Given the description of an element on the screen output the (x, y) to click on. 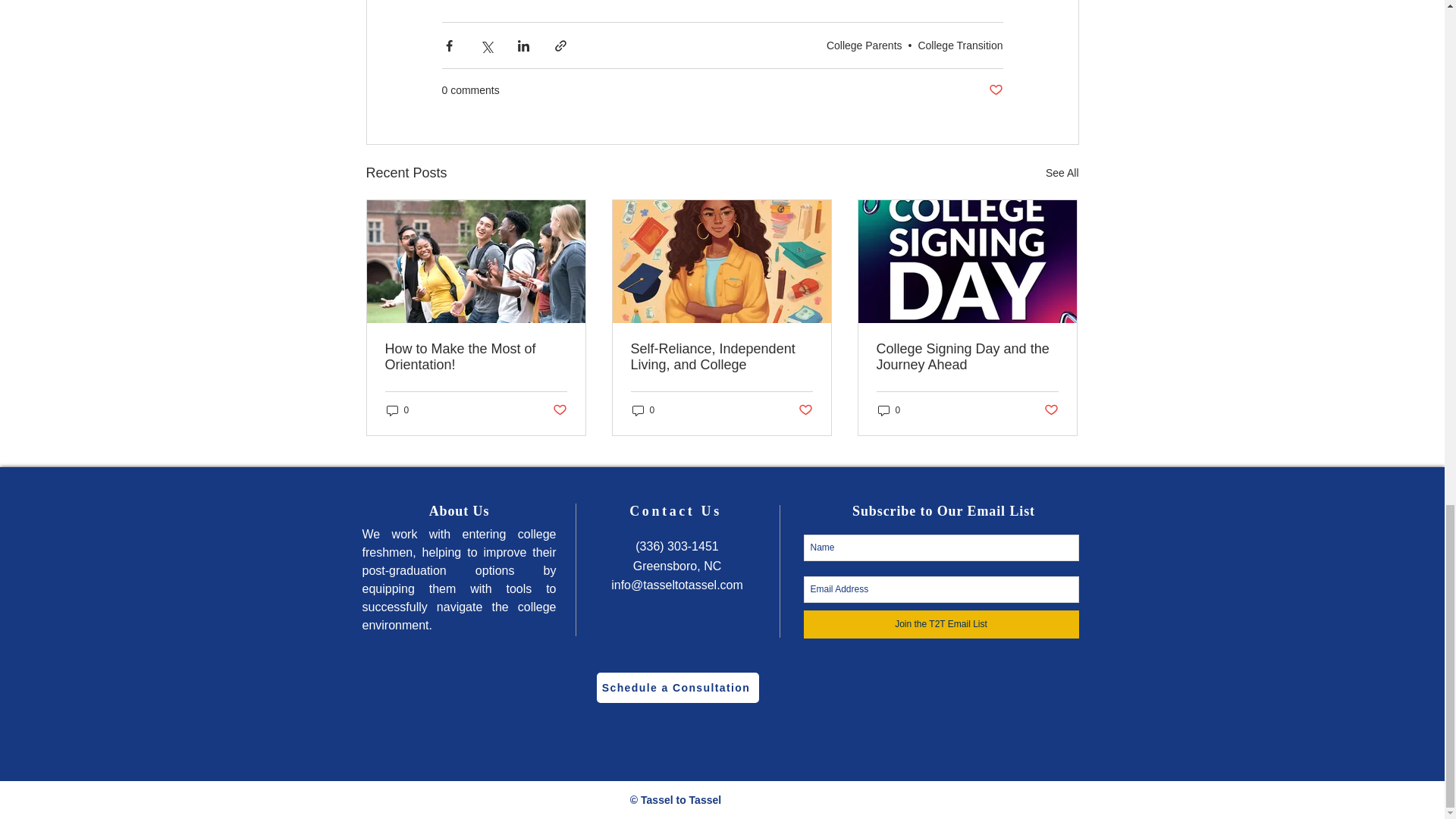
College Parents (864, 45)
Post not marked as liked (995, 90)
See All (1061, 173)
College Transition (960, 45)
